Given the description of an element on the screen output the (x, y) to click on. 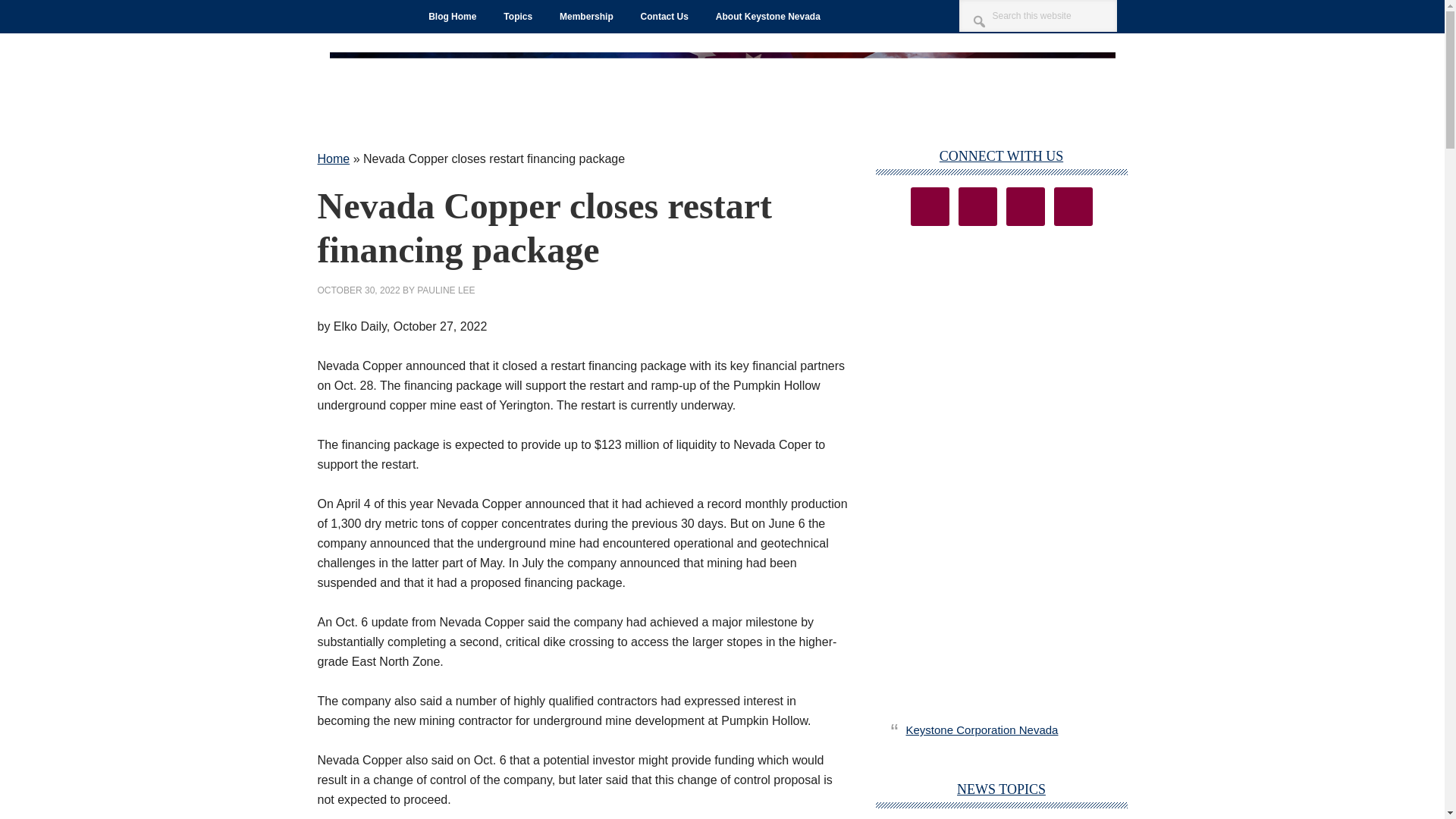
Topics (518, 16)
Home (333, 158)
About Keystone Nevada (767, 16)
Blog Home (451, 16)
PAULINE LEE (445, 290)
Contact Us (664, 16)
Membership (586, 16)
Keystone Corporation Nevada (981, 729)
